Given the description of an element on the screen output the (x, y) to click on. 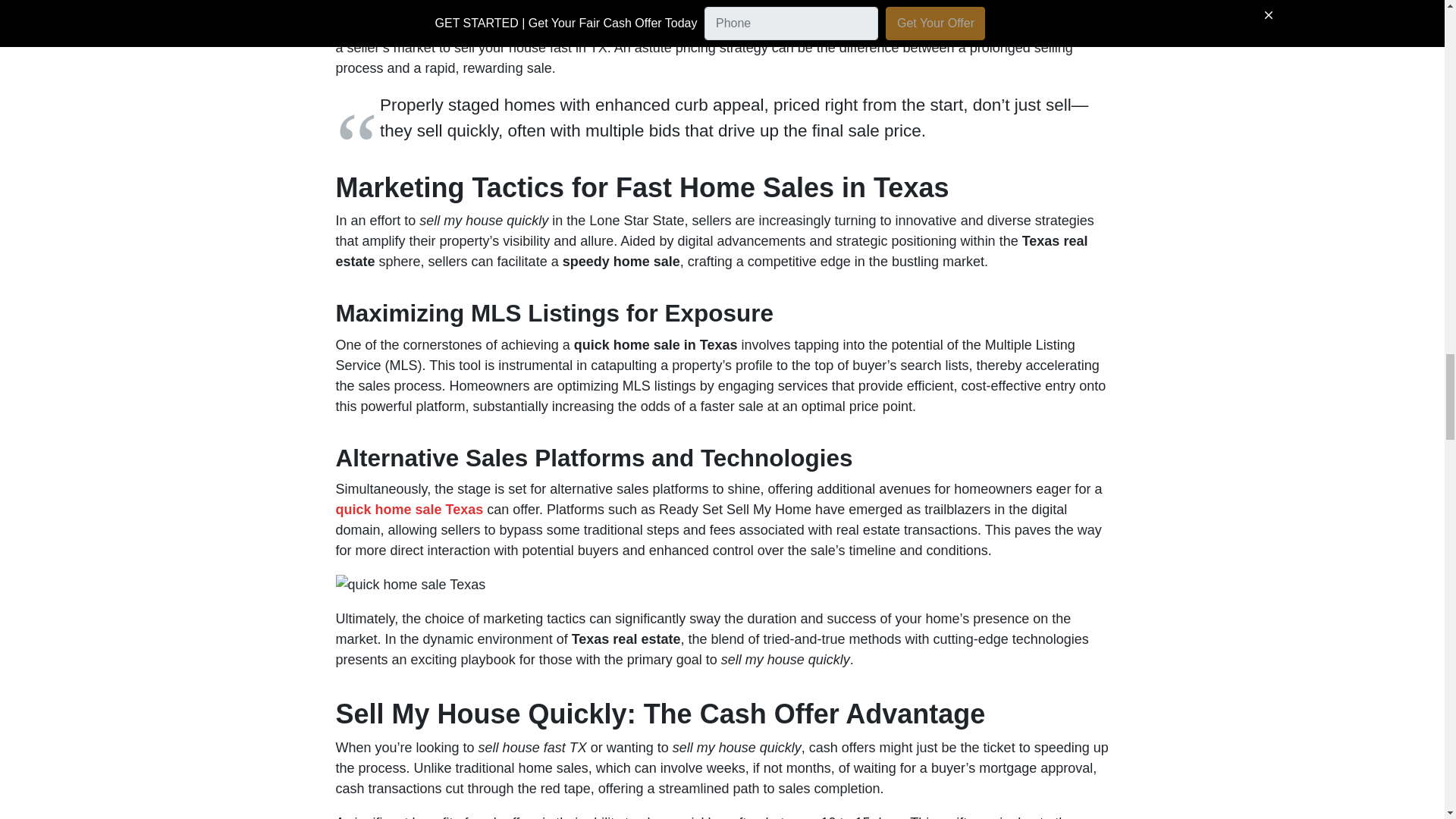
quick home sale Texas (408, 509)
